Given the description of an element on the screen output the (x, y) to click on. 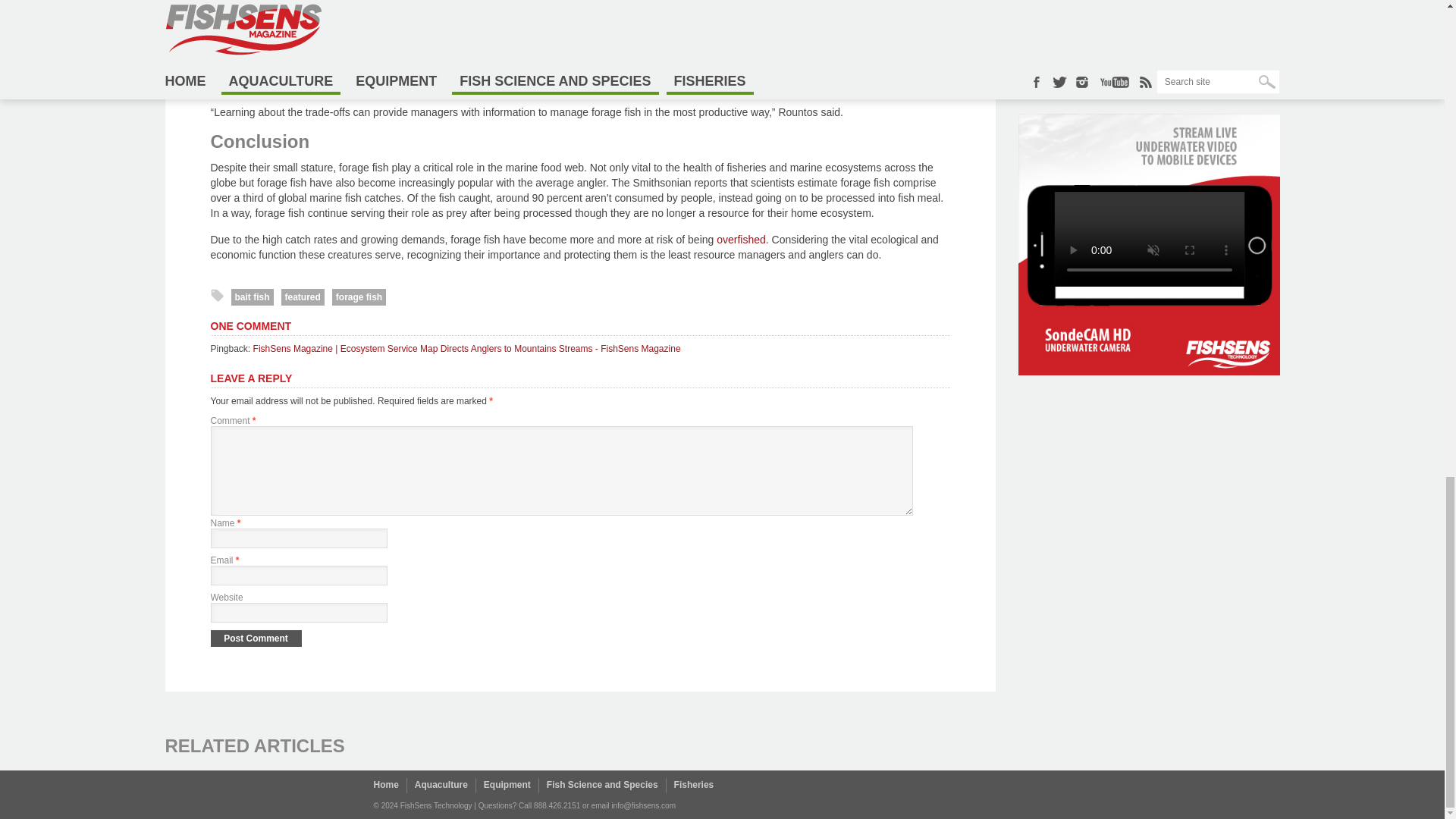
Fish Science and Species (602, 784)
forage fish (358, 297)
ocean acidification (579, 62)
Aquaculture (440, 784)
Equipment (507, 784)
888.426.2151 (556, 805)
Post Comment (256, 638)
Home (384, 784)
Fisheries (694, 784)
featured (302, 297)
